Given the description of an element on the screen output the (x, y) to click on. 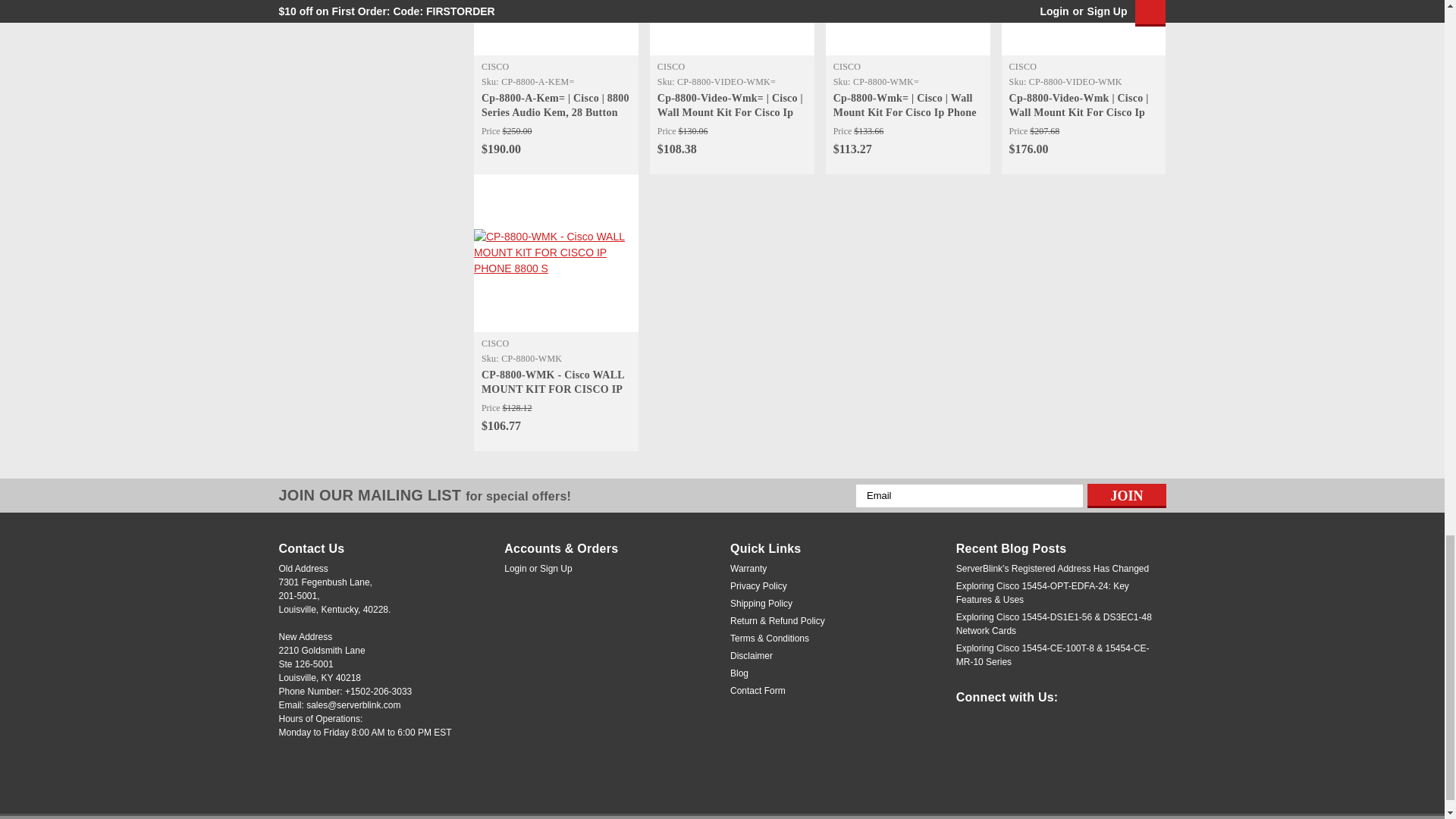
CP-8800-WMK - Cisco WALL MOUNT KIT FOR CISCO IP PHONE 8800 S (556, 252)
Join (1126, 495)
